Given the description of an element on the screen output the (x, y) to click on. 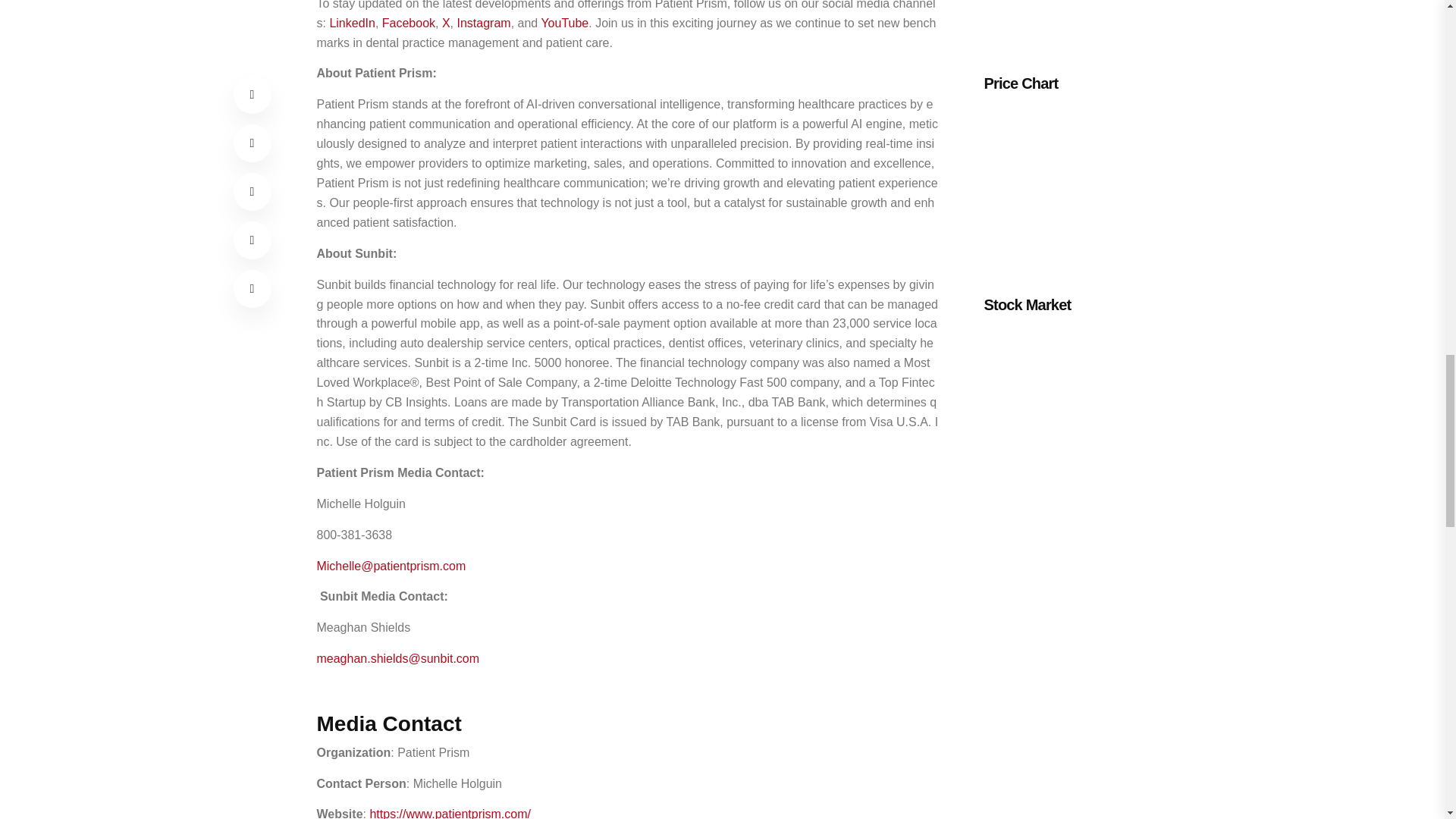
YouTube (564, 22)
Instagram (484, 22)
Facebook (408, 22)
LinkedIn (352, 22)
